Given the description of an element on the screen output the (x, y) to click on. 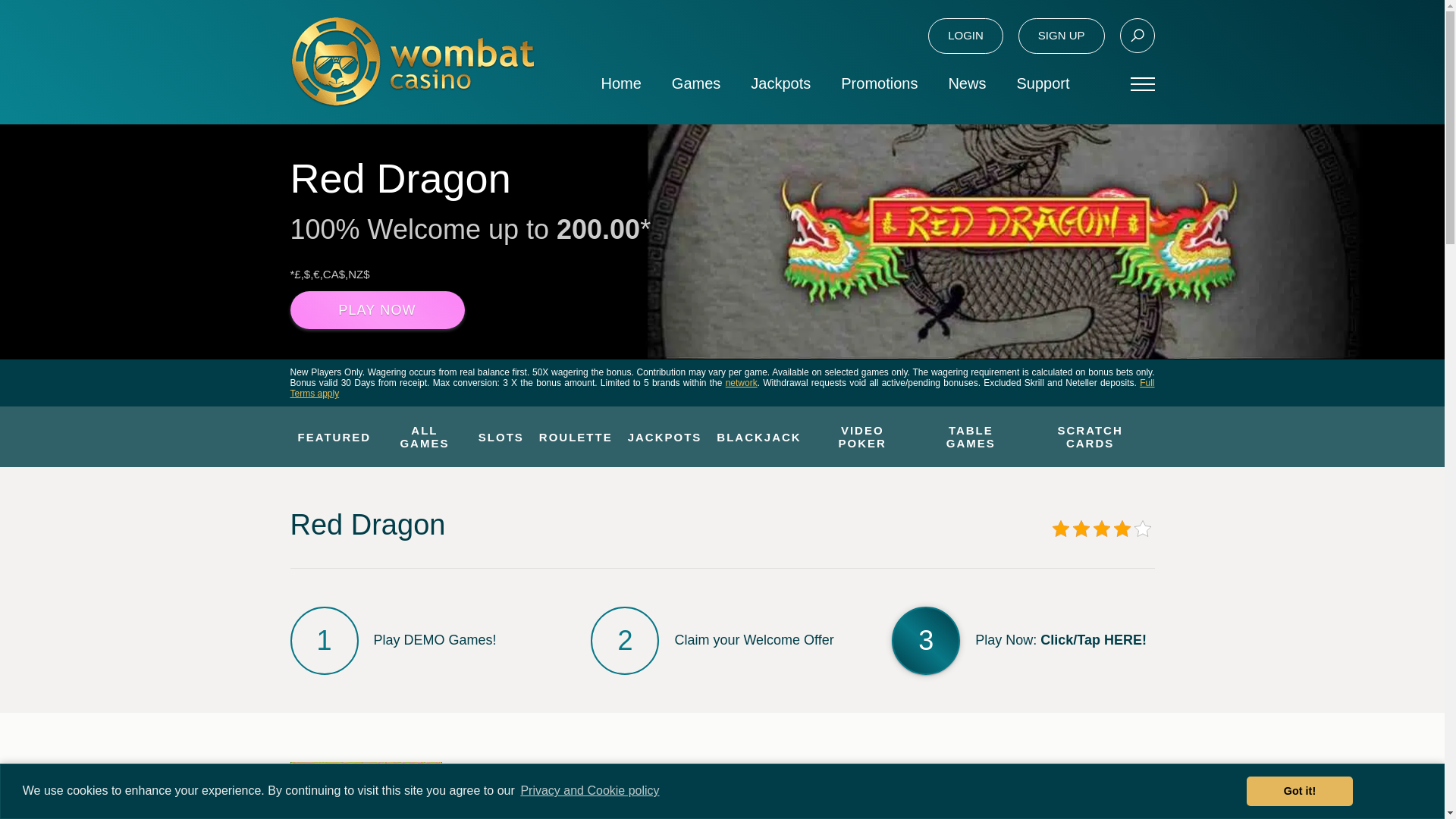
Wombat Casino (411, 61)
Got it! (1299, 791)
Search Icon (1136, 35)
LOGIN (965, 36)
Wombat Casino (411, 61)
SIGN UP (1061, 36)
Privacy and Cookie policy (590, 790)
